Given the description of an element on the screen output the (x, y) to click on. 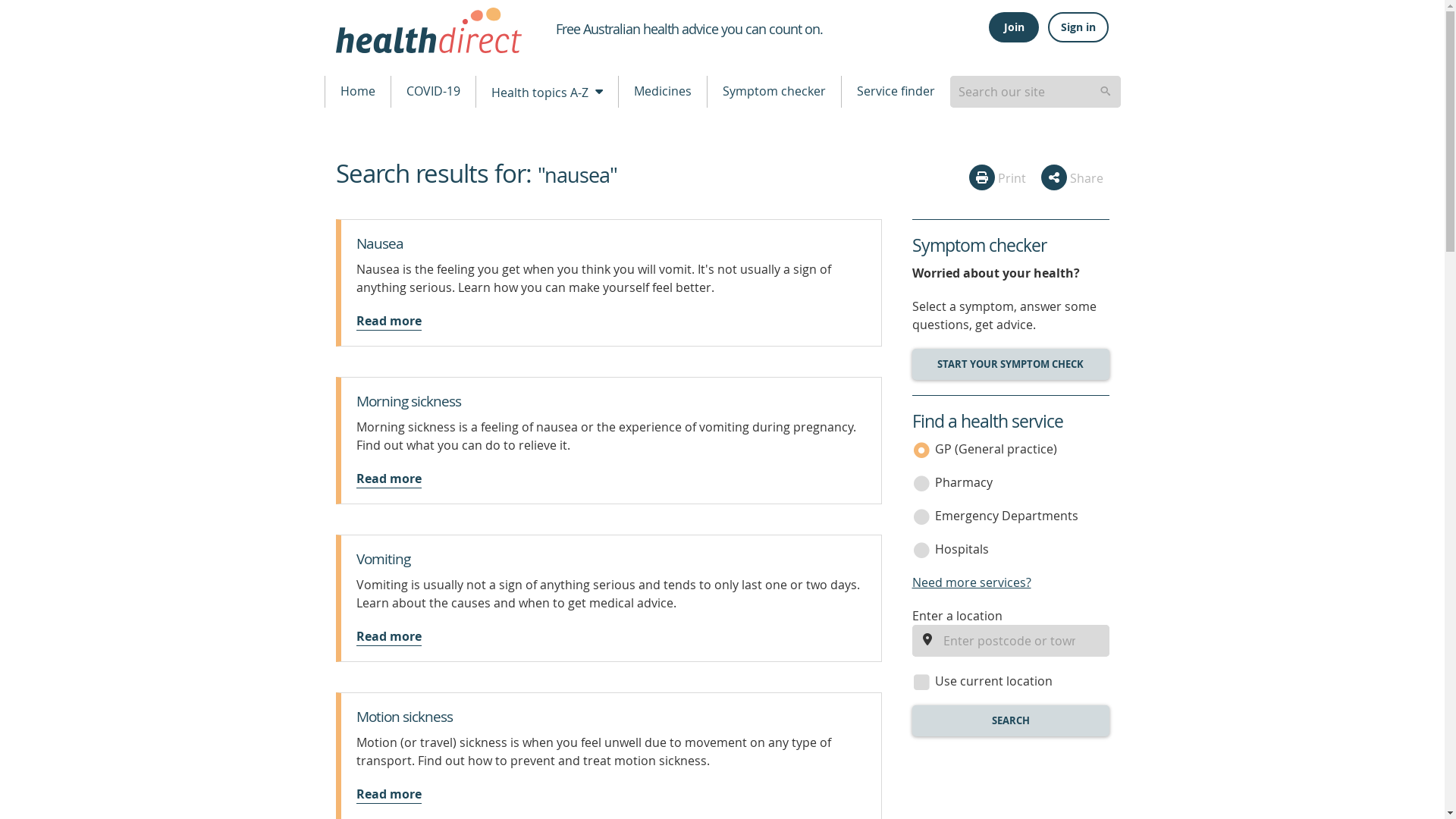
Suggestion options (1034, 91)
Home (357, 91)
COVID-19 (433, 91)
Check symptoms (1009, 364)
Health topics A-Z (546, 91)
Join (1013, 27)
Sign in (1078, 27)
